Given the description of an element on the screen output the (x, y) to click on. 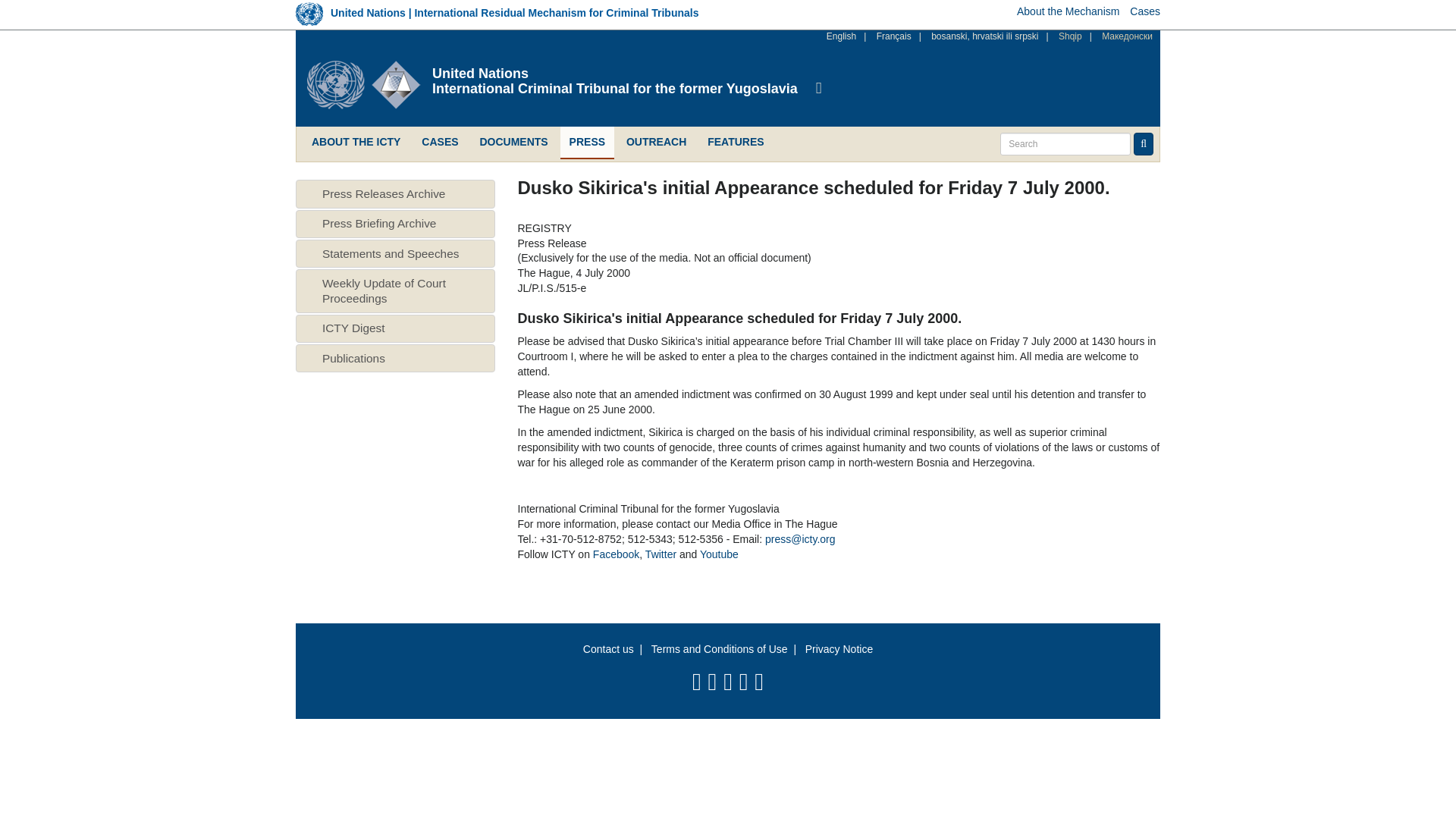
Publications (353, 358)
Youtube (719, 553)
Home (369, 84)
OUTREACH (656, 142)
Terms and Conditions of Use (718, 648)
Weekly Update of Court Proceedings (383, 290)
FEATURES (735, 142)
Privacy Notice (838, 648)
Contact us (608, 648)
